Given the description of an element on the screen output the (x, y) to click on. 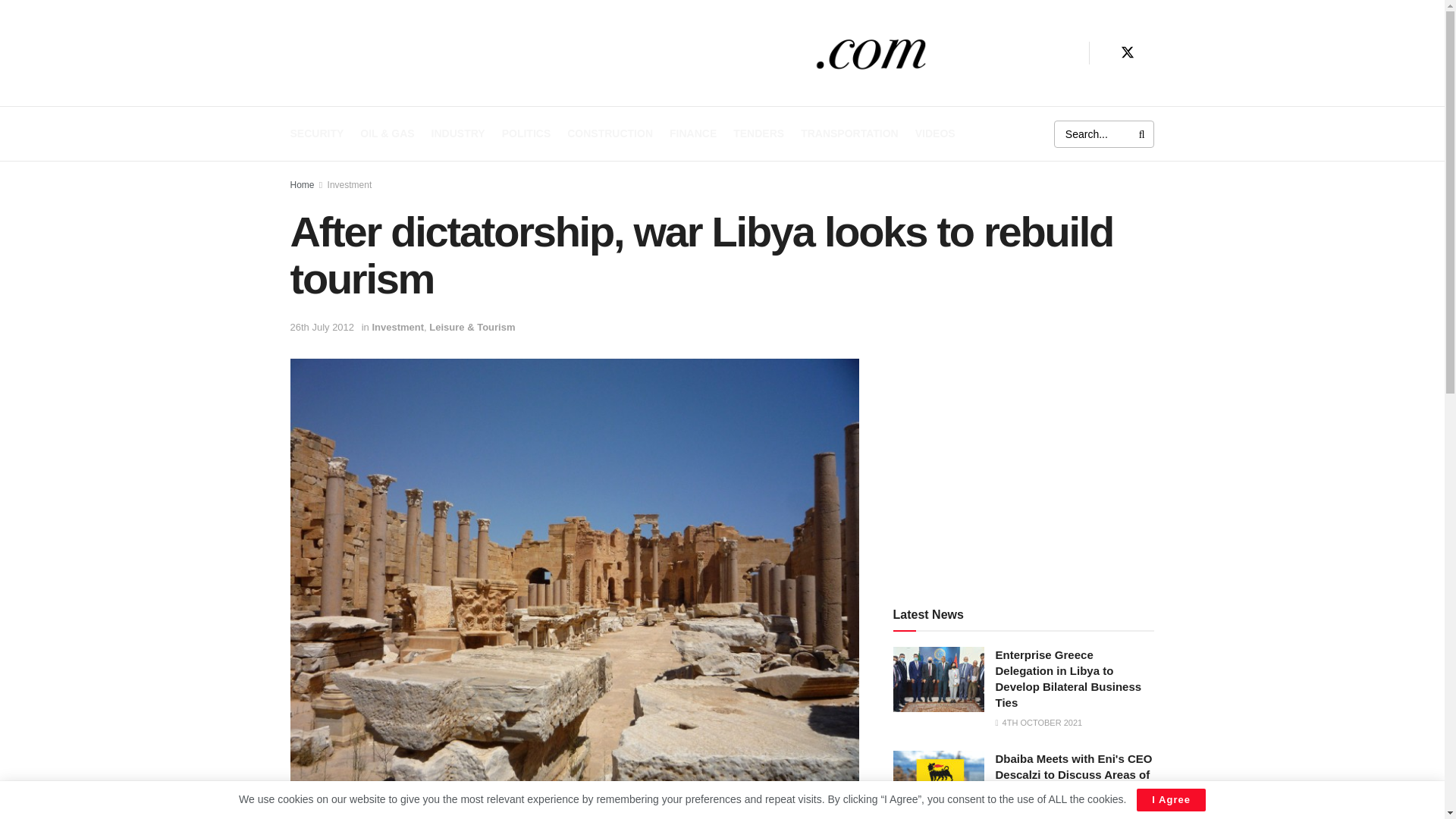
CONSTRUCTION (609, 133)
Investment (349, 184)
POLITICS (526, 133)
VIDEOS (935, 133)
FINANCE (692, 133)
TRANSPORTATION (849, 133)
Share on Facebook (430, 813)
Advertisement (1023, 464)
TENDERS (758, 133)
SECURITY (316, 133)
Home (301, 184)
Share on Twitter (717, 813)
INDUSTRY (457, 133)
26th July 2012 (321, 326)
Investment (397, 326)
